Given the description of an element on the screen output the (x, y) to click on. 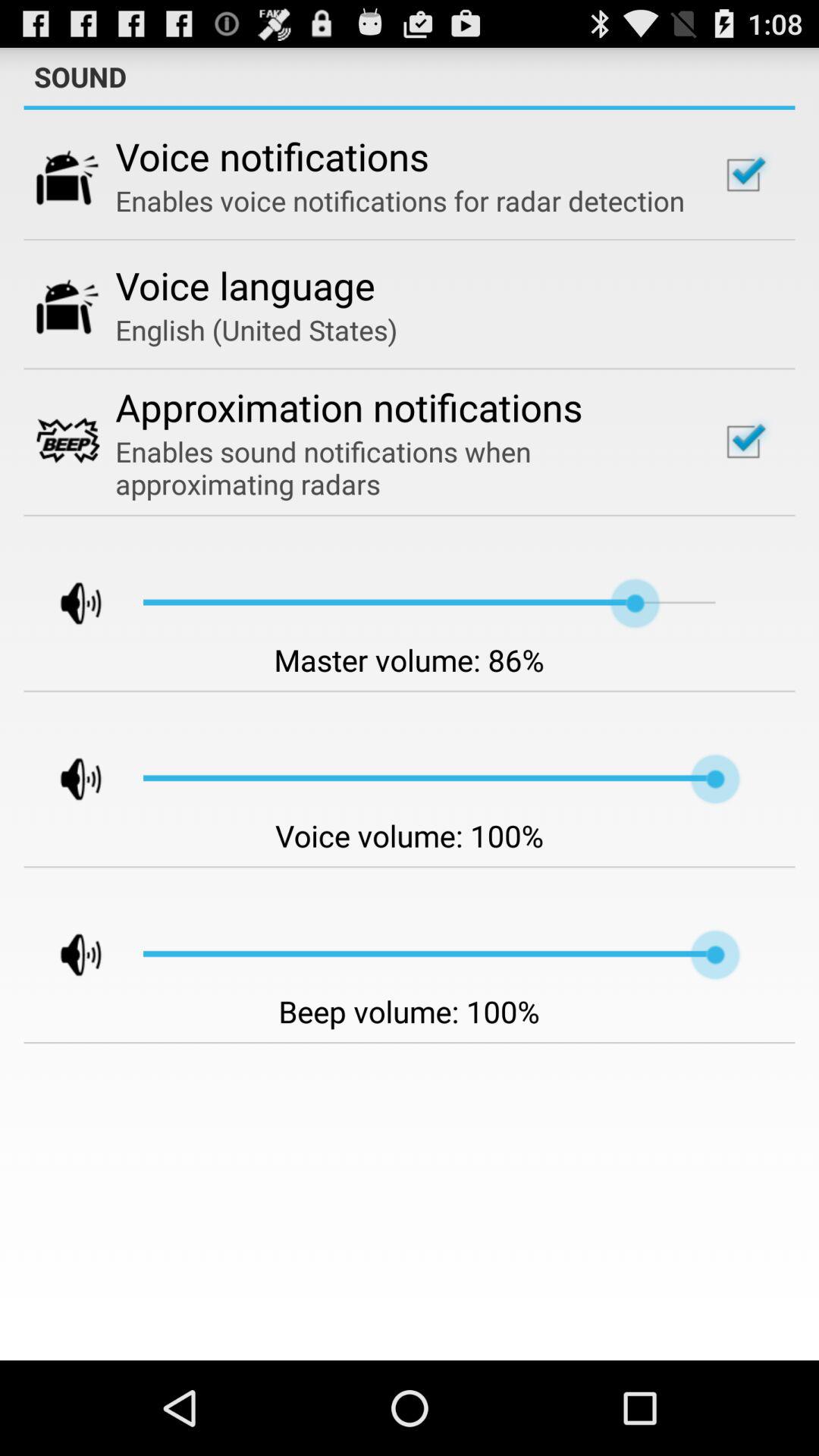
click the third volume symbol (67, 955)
click on first volume icon (67, 603)
select the option which is below the sound (742, 174)
